Given the description of an element on the screen output the (x, y) to click on. 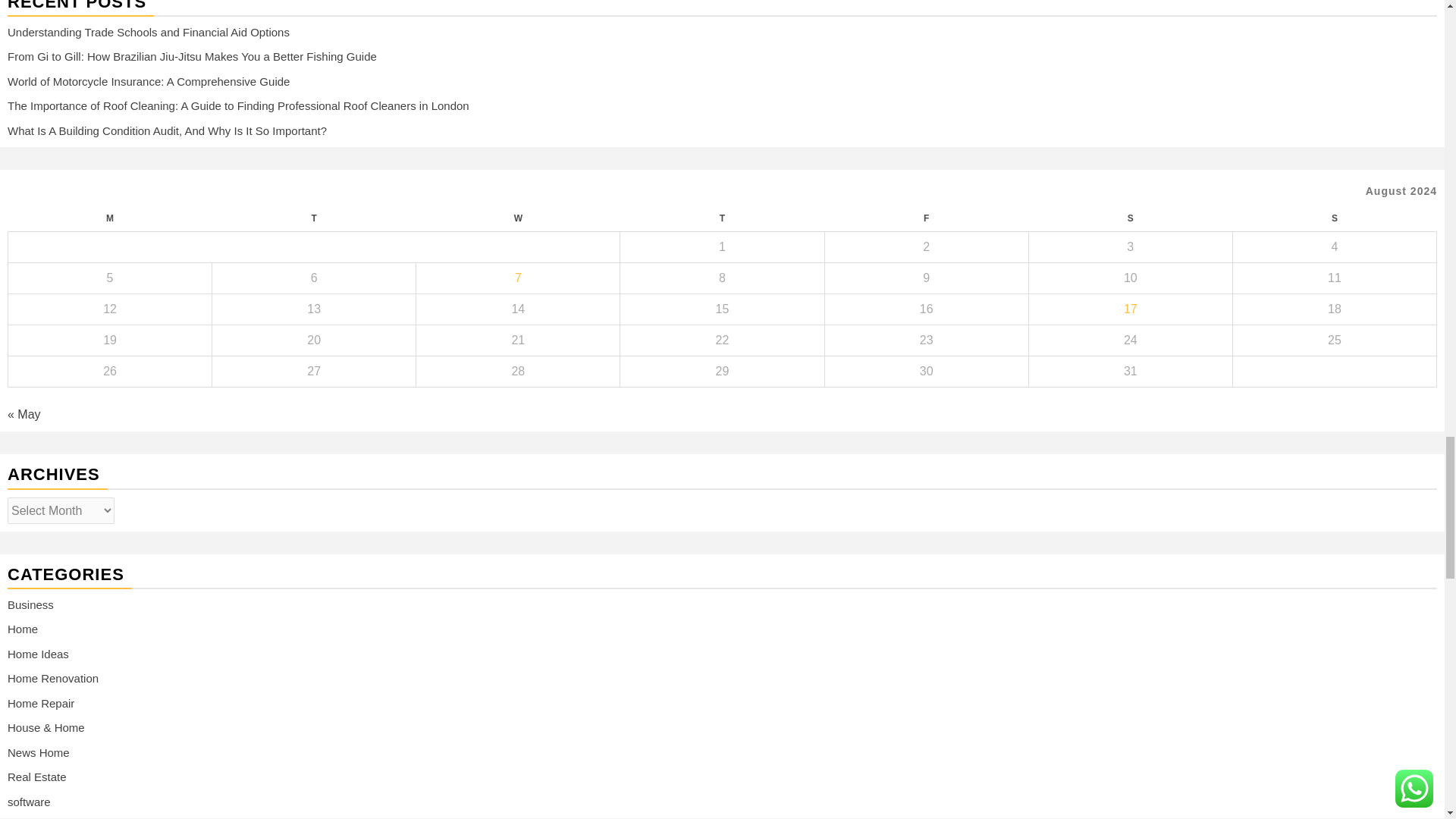
Saturday (1129, 218)
Sunday (1333, 218)
Tuesday (314, 218)
Friday (925, 218)
Monday (109, 218)
Wednesday (518, 218)
Thursday (722, 218)
